Given the description of an element on the screen output the (x, y) to click on. 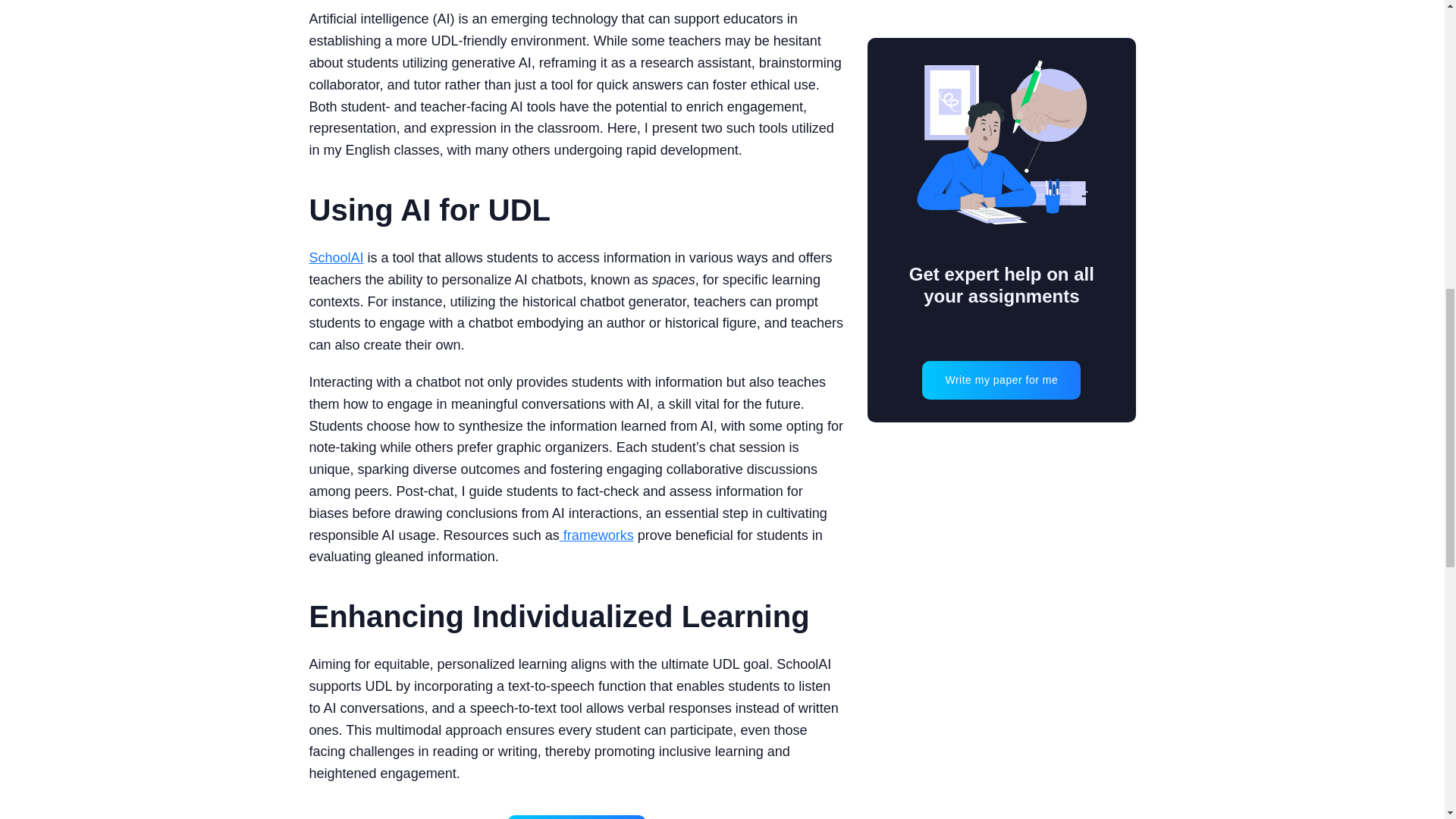
SchoolAI (336, 257)
Back to blog (576, 816)
frameworks (596, 534)
